Given the description of an element on the screen output the (x, y) to click on. 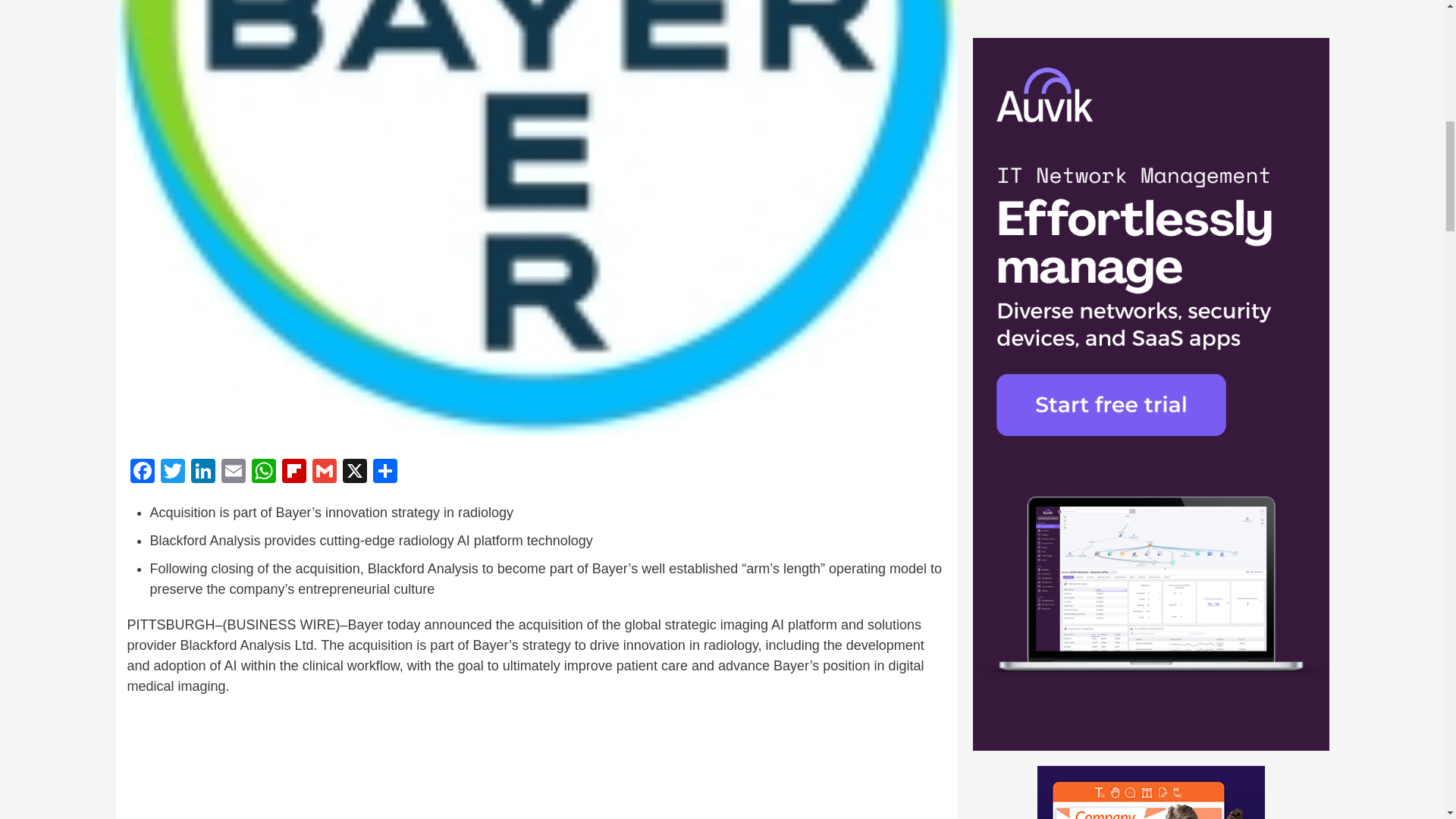
Email (233, 472)
Facebook (142, 472)
WhatsApp (263, 472)
Twitter (172, 472)
X (354, 472)
Twitter (172, 472)
Flipboard (293, 472)
X (354, 472)
LinkedIn (202, 472)
Facebook (142, 472)
LinkedIn (202, 472)
WhatsApp (263, 472)
Gmail (323, 472)
Flipboard (293, 472)
Gmail (323, 472)
